Given the description of an element on the screen output the (x, y) to click on. 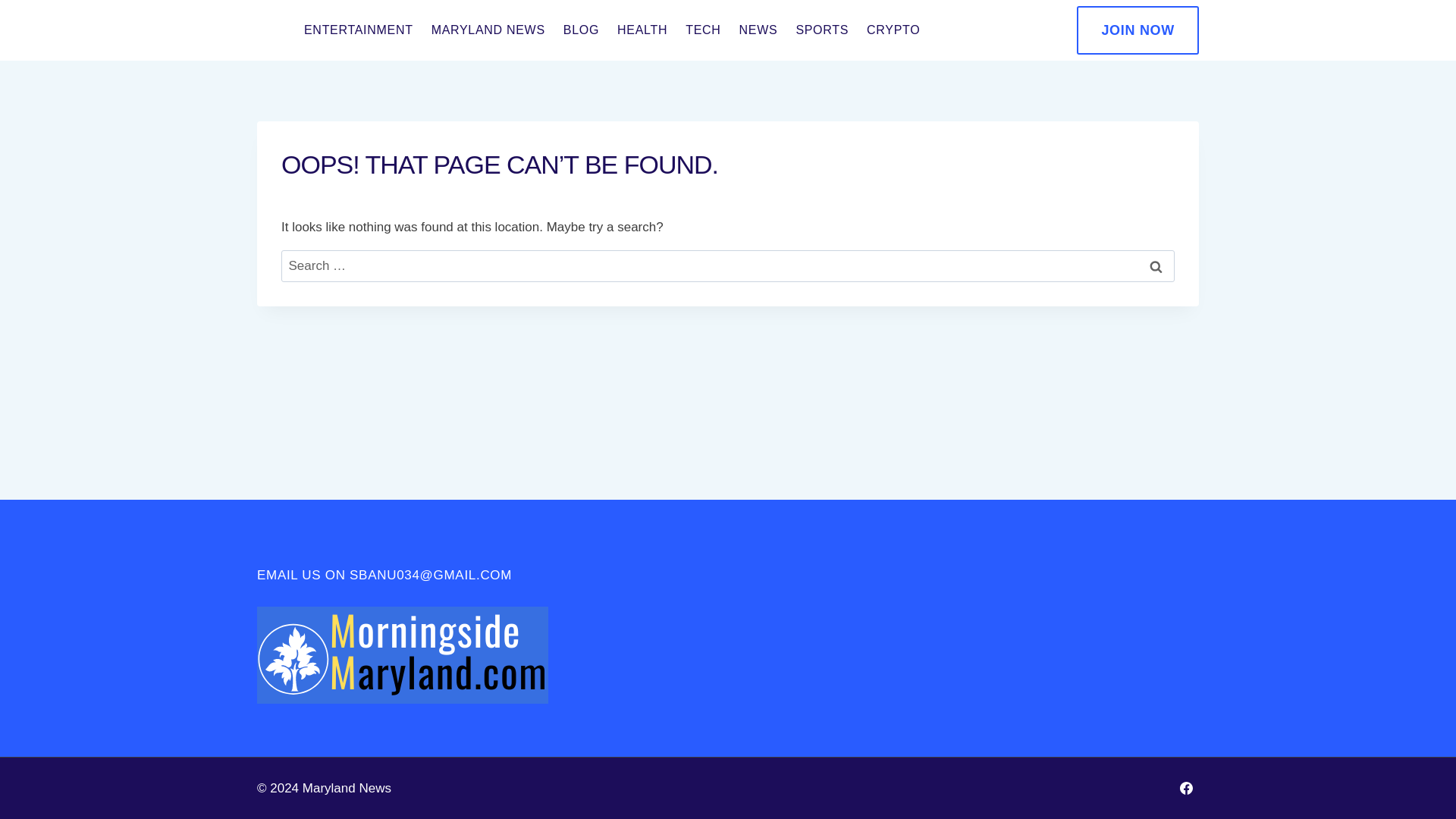
Search (1155, 266)
HEALTH (642, 30)
Search (1155, 266)
JOIN NOW (1137, 30)
ENTERTAINMENT (358, 30)
TECH (703, 30)
Search (1155, 266)
MARYLAND NEWS (488, 30)
SPORTS (821, 30)
NEWS (758, 30)
CRYPTO (892, 30)
BLOG (581, 30)
